Given the description of an element on the screen output the (x, y) to click on. 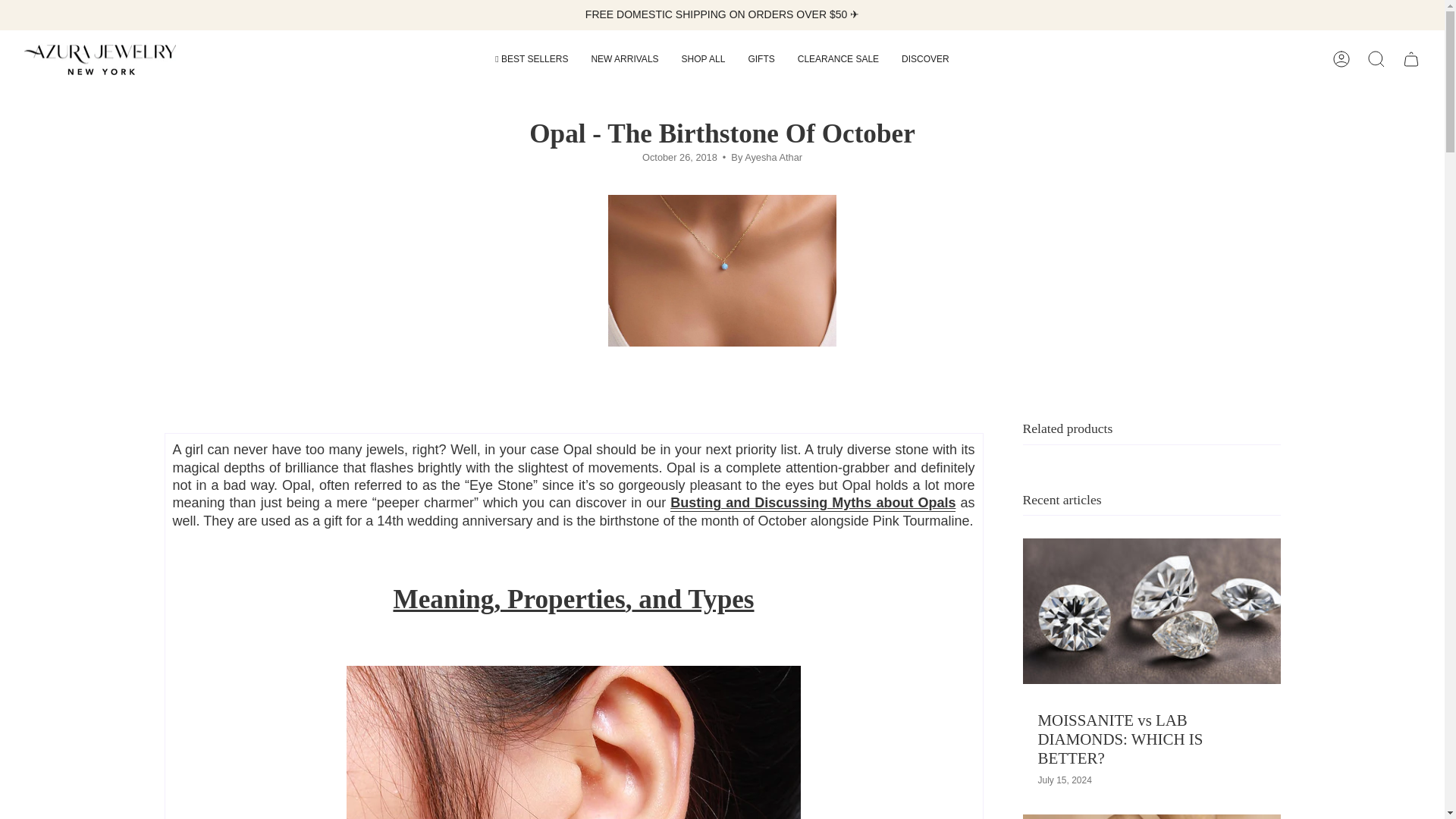
NEW ARRIVALS (624, 58)
Cart (1410, 58)
MOISSANITE vs LAB DIAMONDS: WHICH IS BETTER? (1119, 739)
My Account (1340, 58)
Search (1375, 58)
SHOP ALL (702, 58)
